Given the description of an element on the screen output the (x, y) to click on. 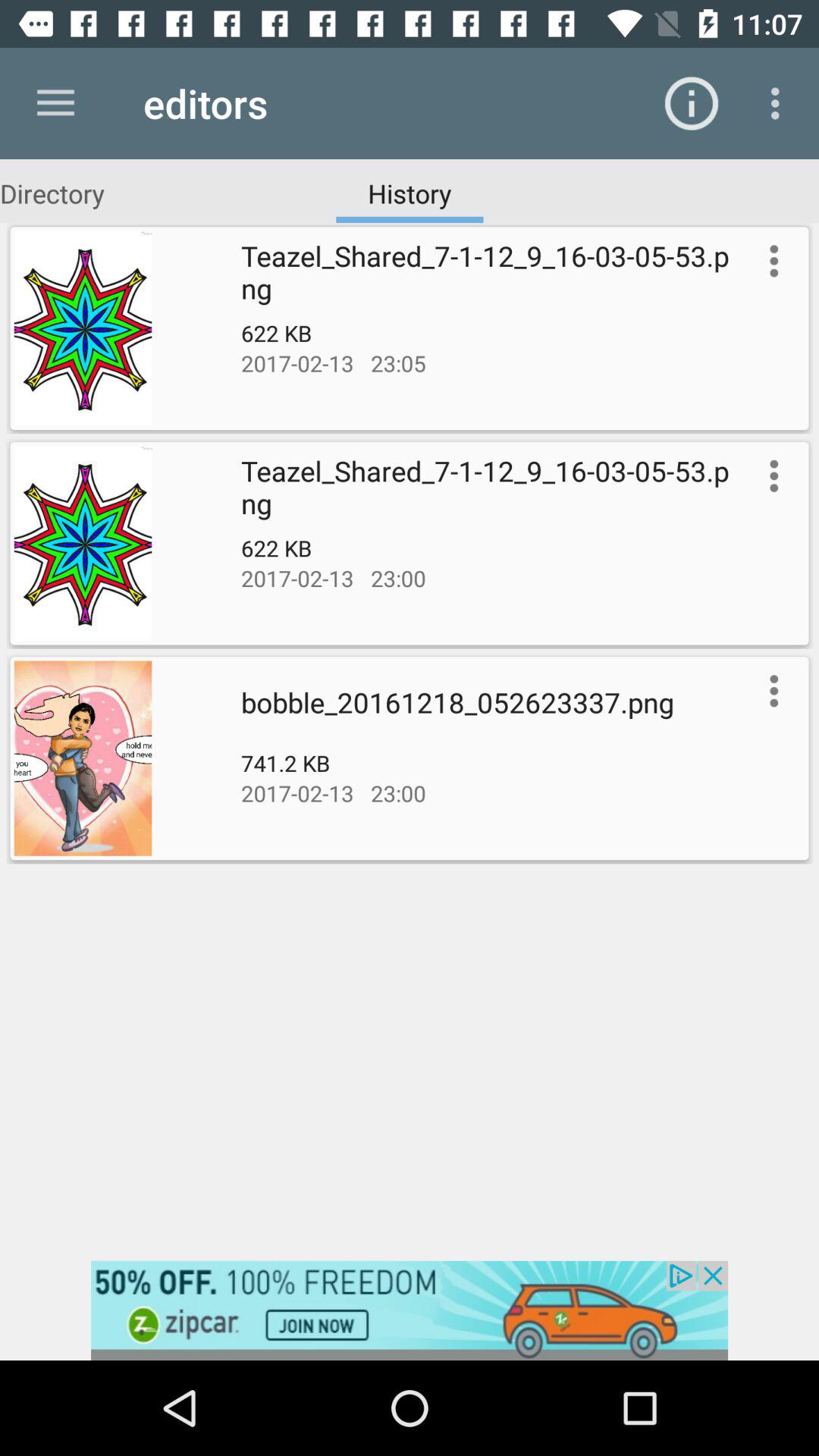
go to advertisement (409, 1310)
